Given the description of an element on the screen output the (x, y) to click on. 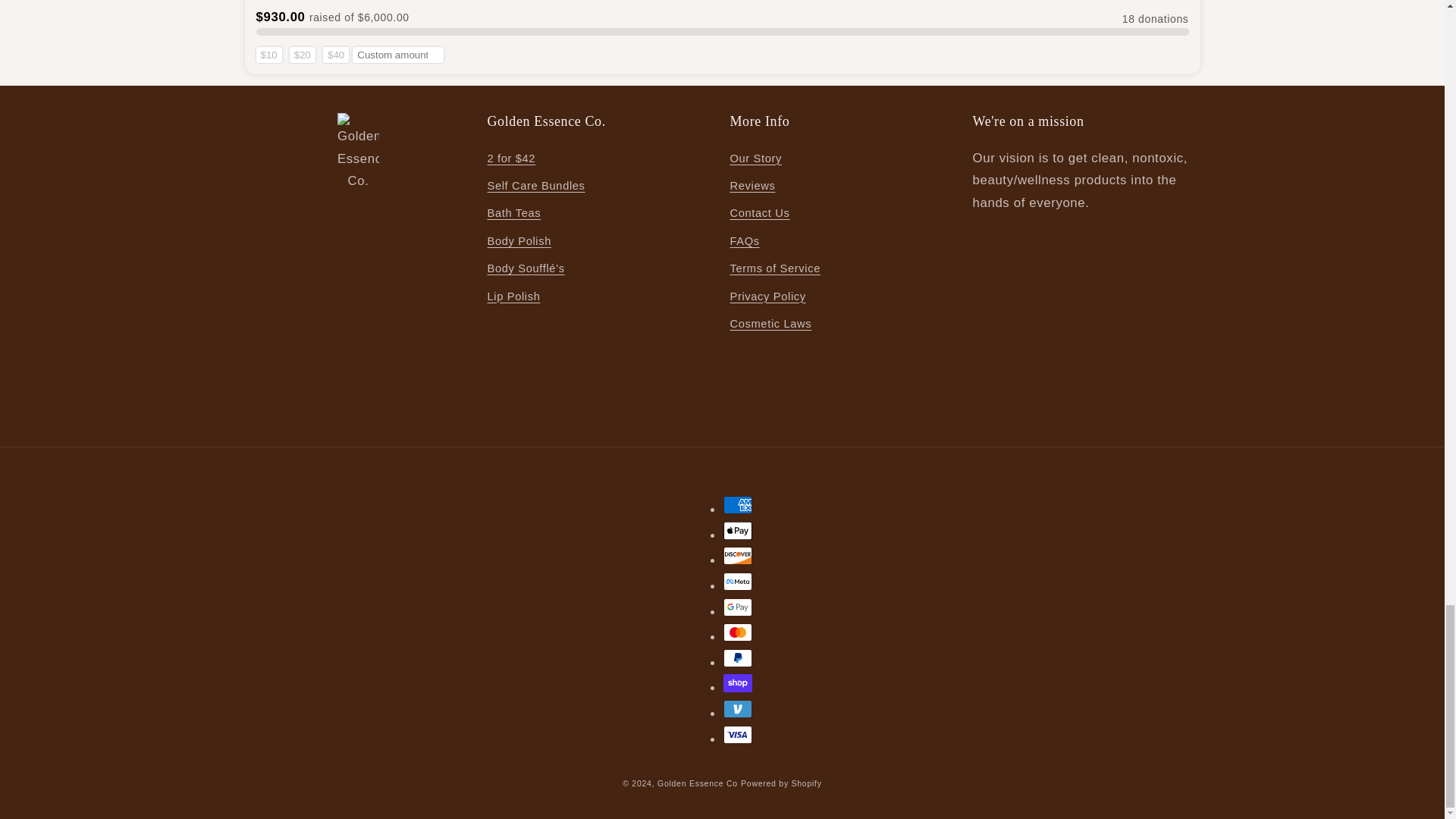
Discover (737, 556)
Venmo (737, 709)
American Express (737, 505)
Google Pay (737, 607)
PayPal (737, 658)
Mastercard (737, 632)
Visa (737, 734)
Shop Pay (737, 683)
Apple Pay (737, 530)
Meta Pay (737, 581)
